Given the description of an element on the screen output the (x, y) to click on. 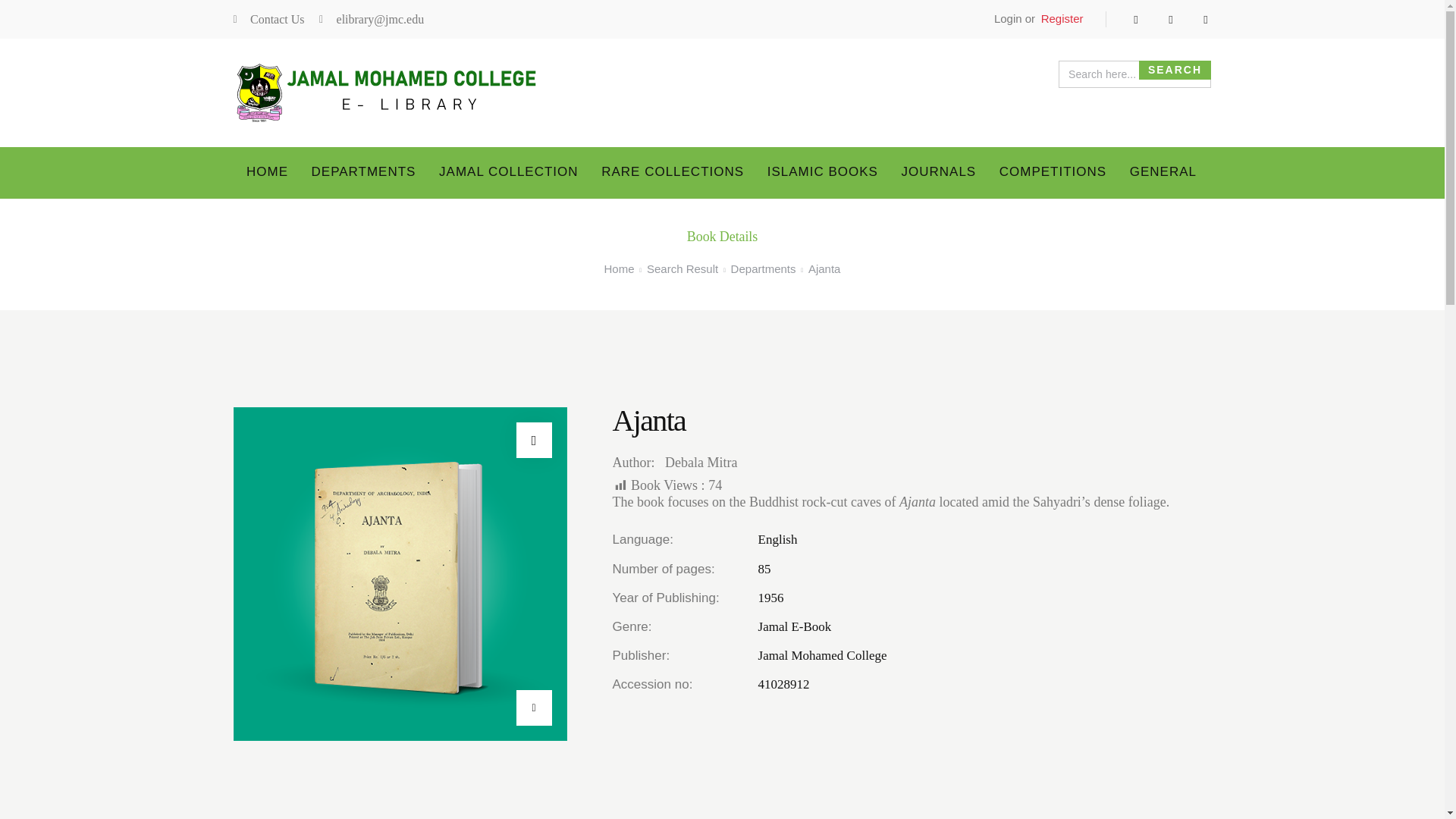
Search (1174, 69)
DEPARTMENTS (362, 172)
Login orRegister (1035, 19)
JAMAL COLLECTION (508, 172)
Search (1174, 69)
HOME (266, 172)
Contact Us (268, 19)
Search (1174, 69)
